Given the description of an element on the screen output the (x, y) to click on. 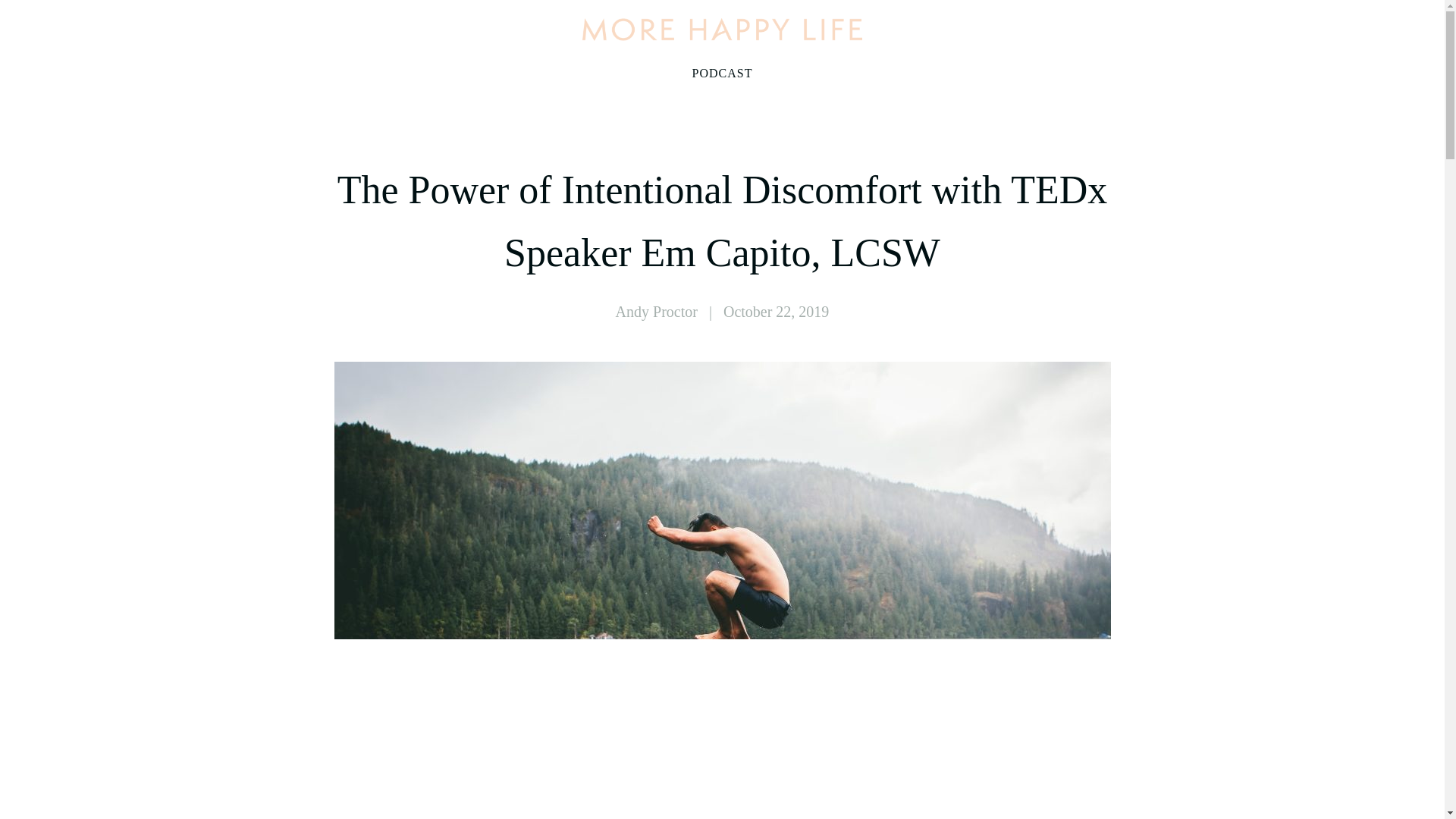
PODCAST (722, 73)
Andy Proctor (656, 311)
